Given the description of an element on the screen output the (x, y) to click on. 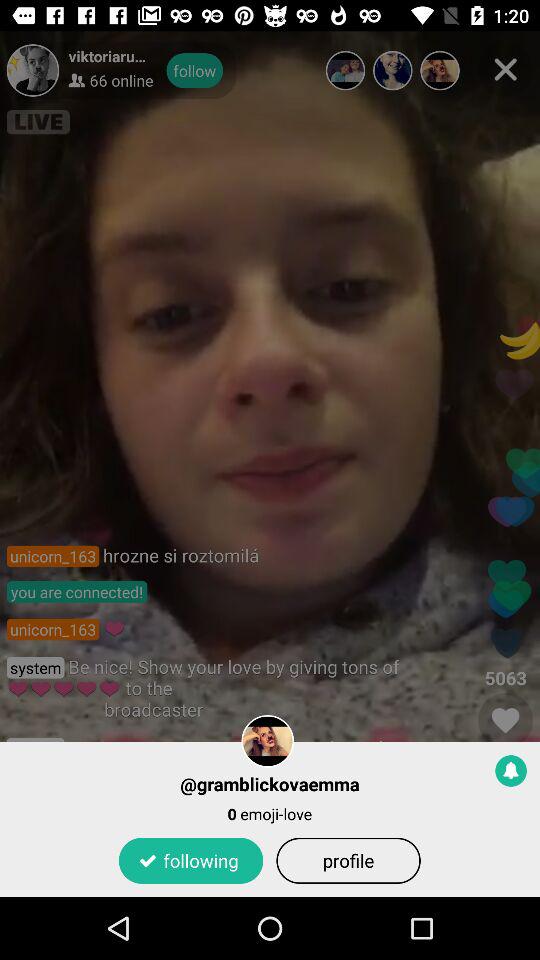
tap icon next to the following app (348, 860)
